Given the description of an element on the screen output the (x, y) to click on. 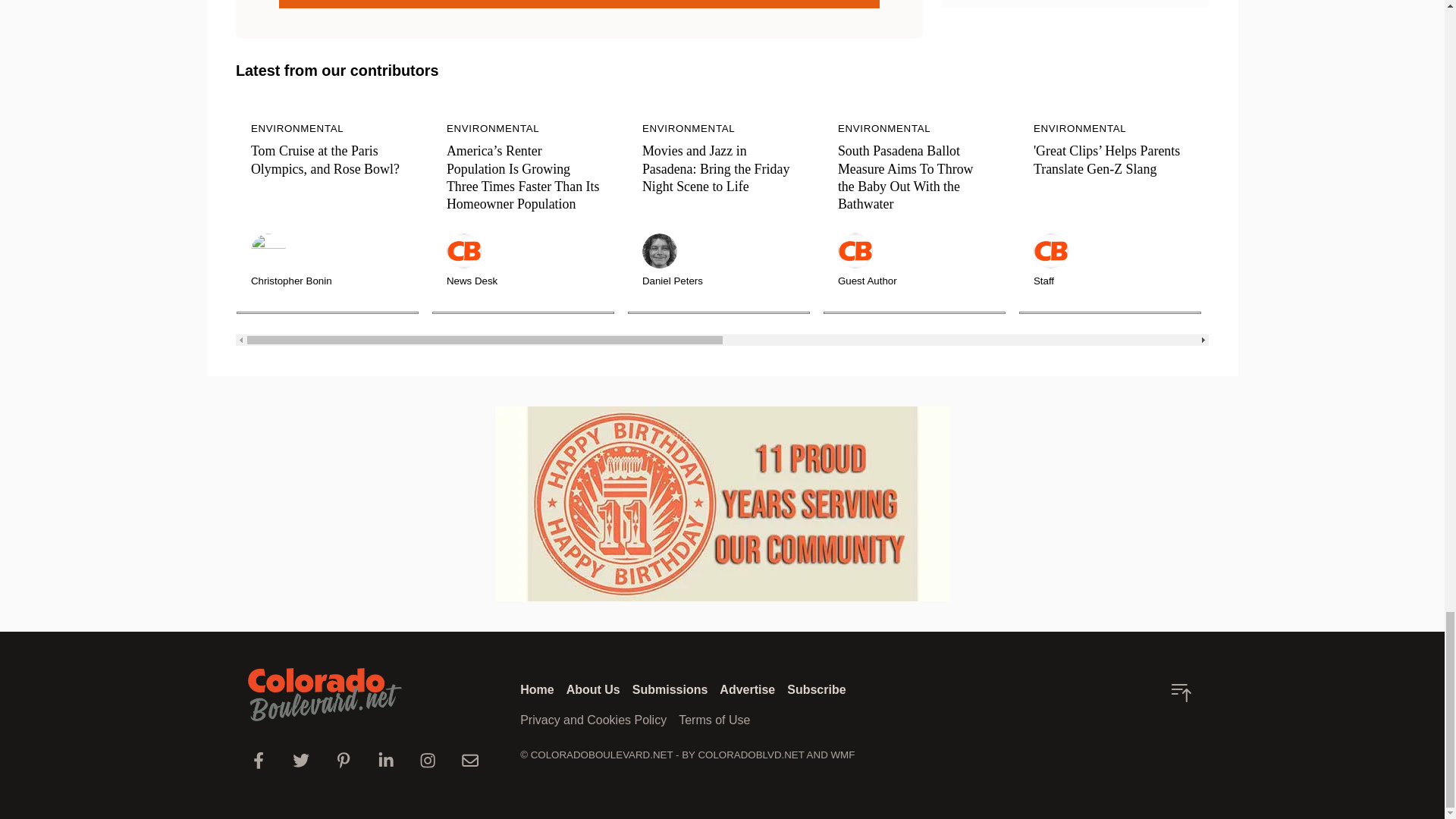
Post Comment (579, 4)
